Given the description of an element on the screen output the (x, y) to click on. 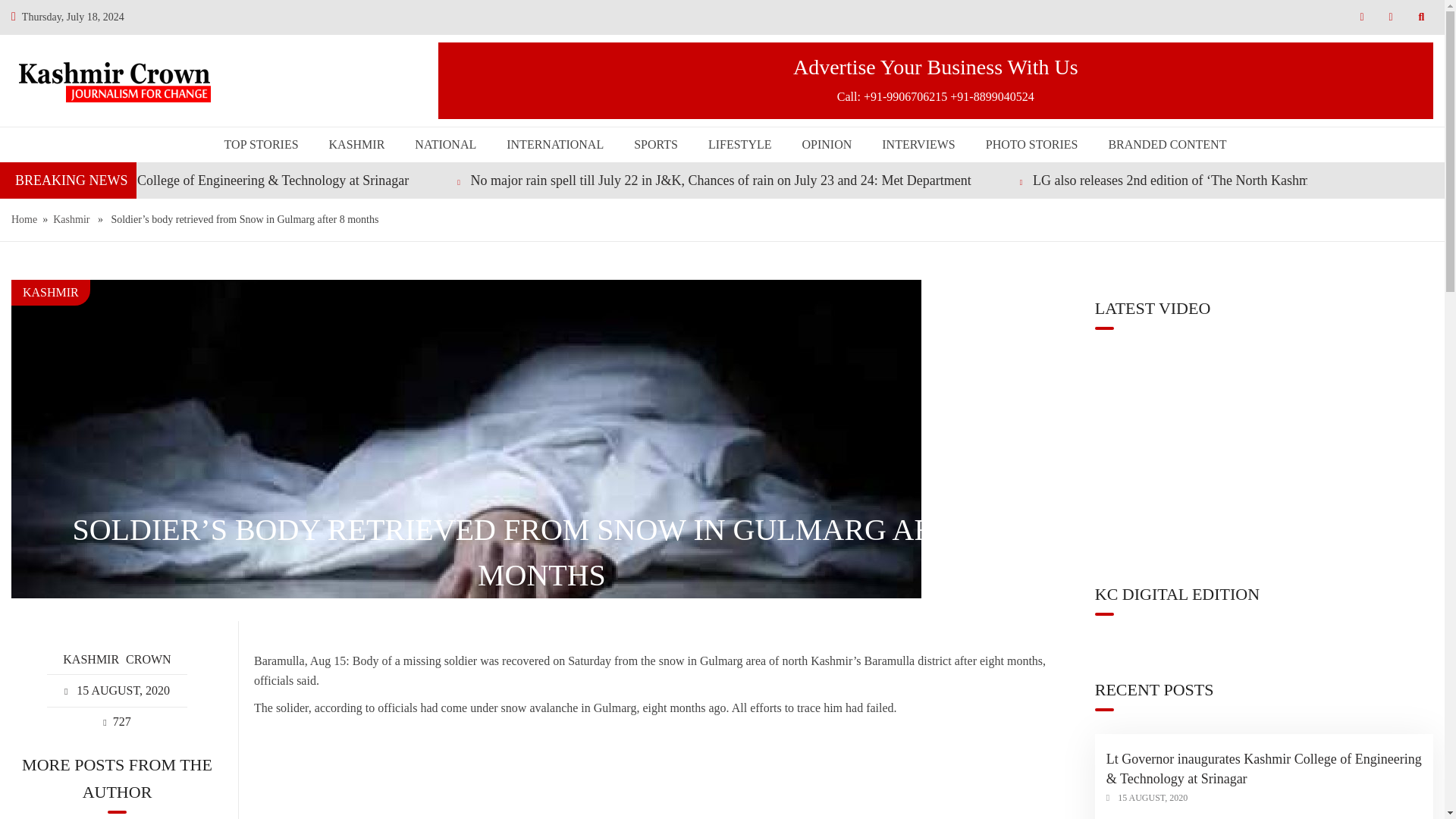
Top Stories (261, 144)
Branded Content (1163, 144)
OPINION (825, 144)
SPORTS (655, 144)
Interviews (918, 144)
PHOTO STORIES (1031, 144)
LIFESTYLE (739, 144)
Home (24, 219)
Sports (655, 144)
INTERVIEWS (918, 144)
KASHMIR (357, 144)
BRANDED CONTENT (1163, 144)
NATIONAL (445, 144)
International (555, 144)
KASHMIR (50, 291)
